Given the description of an element on the screen output the (x, y) to click on. 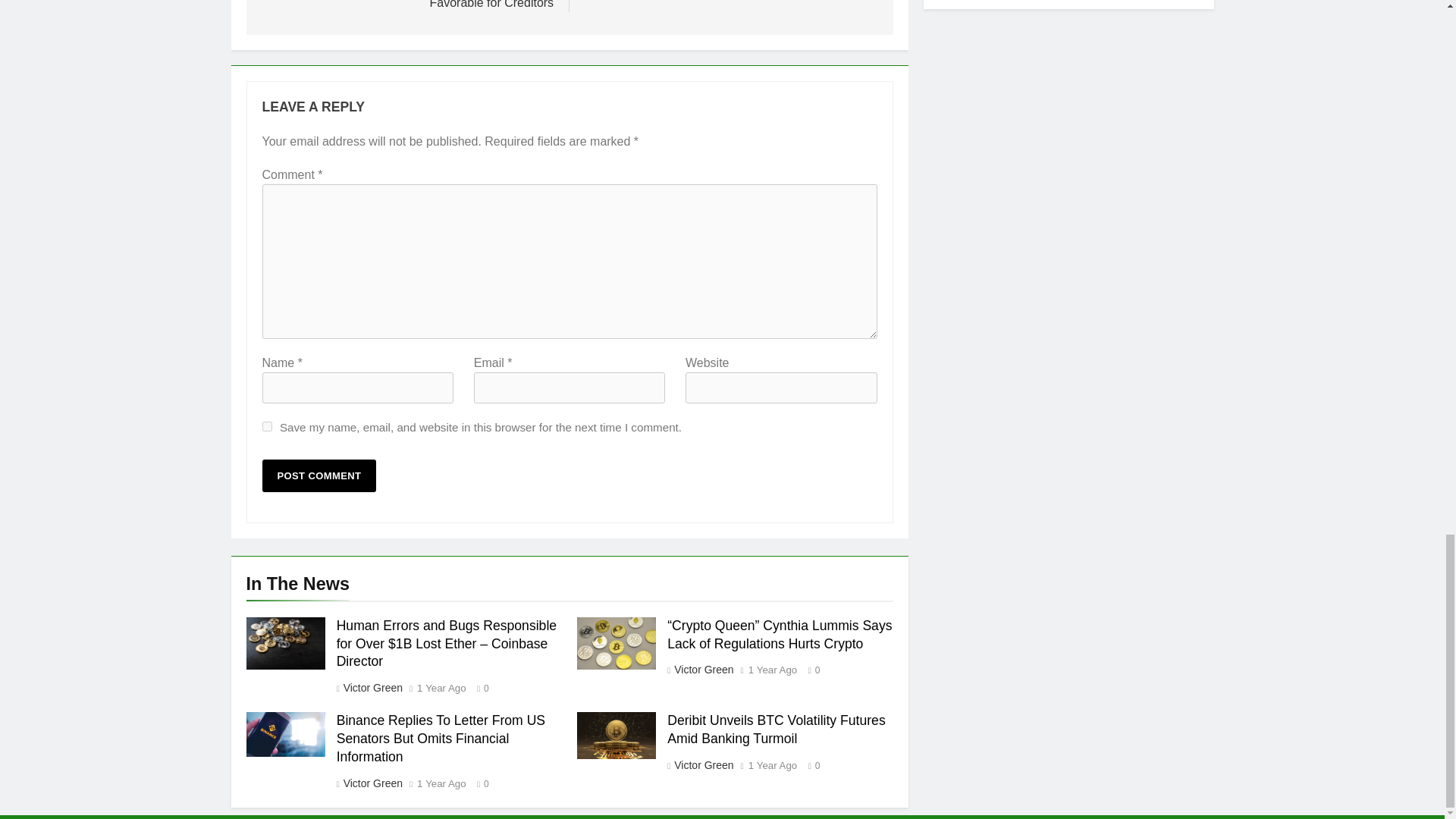
yes (267, 426)
Post Comment (319, 475)
